Given the description of an element on the screen output the (x, y) to click on. 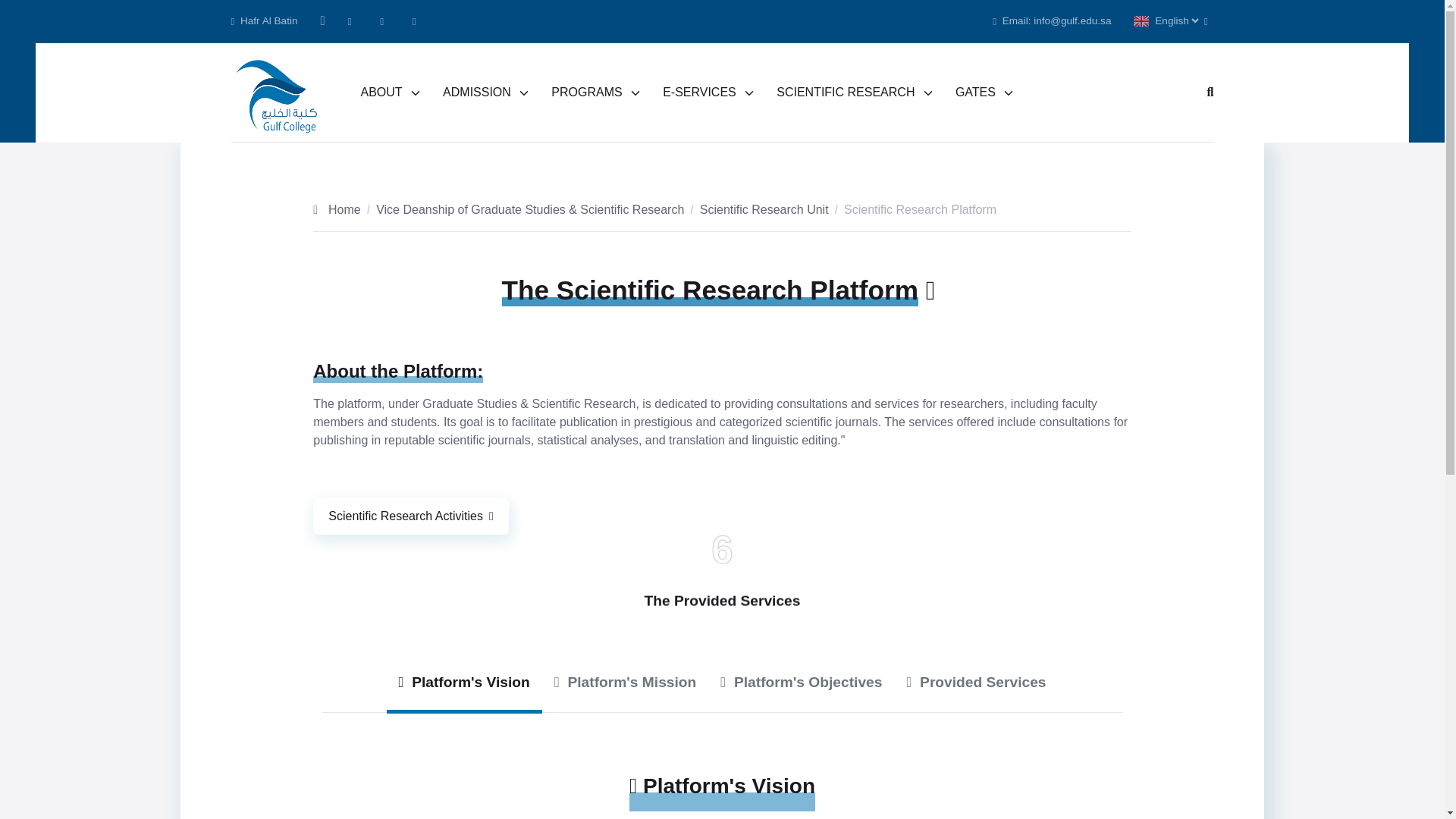
Hafr Al Batin (390, 92)
